Given the description of an element on the screen output the (x, y) to click on. 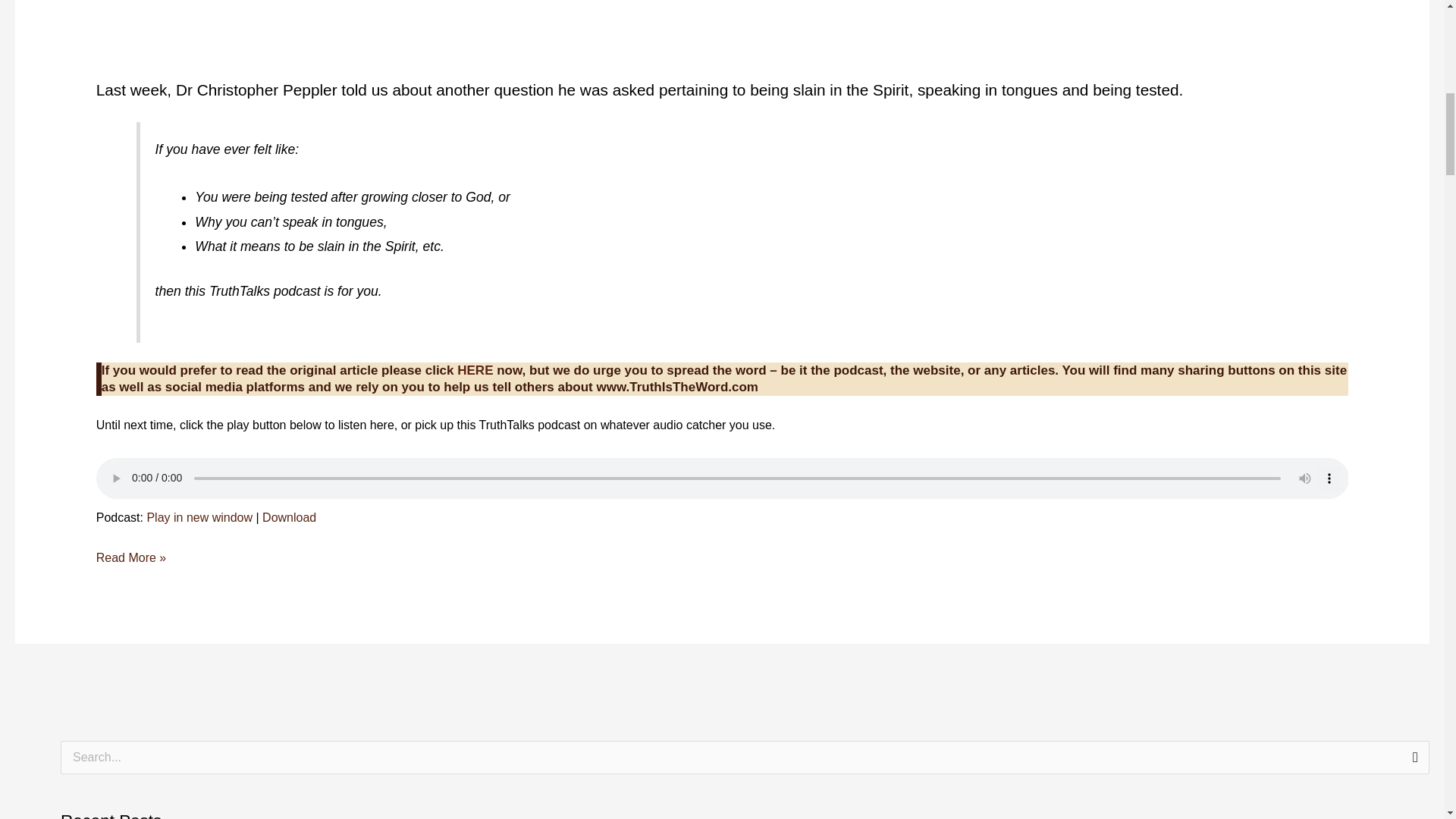
Play in new window (199, 517)
Play in new window (199, 517)
Download (288, 517)
HERE (475, 370)
Download (288, 517)
